Given the description of an element on the screen output the (x, y) to click on. 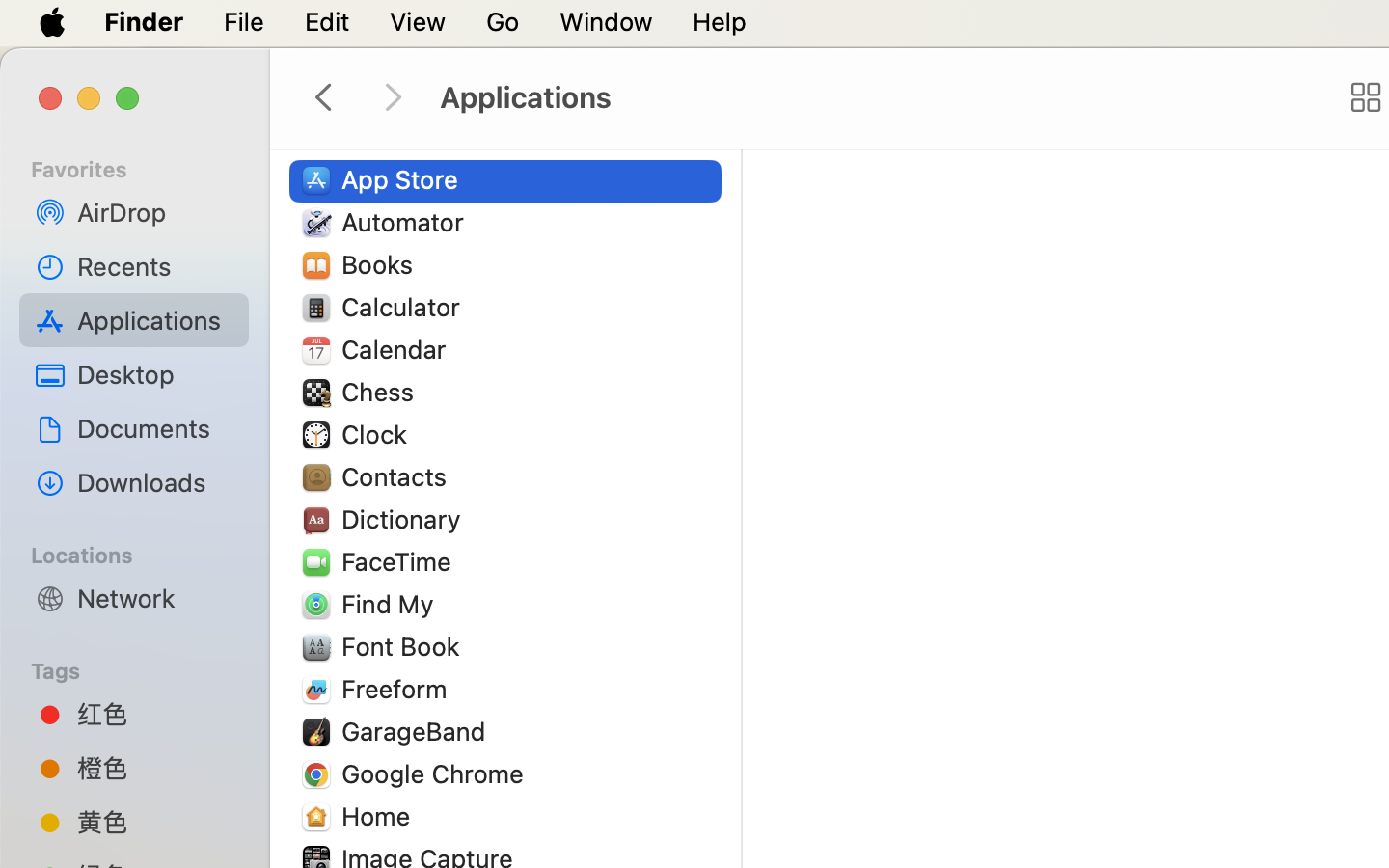
GarageBand Element type: AXTextField (417, 730)
Freeform Element type: AXTextField (398, 688)
App Store Element type: AXTextField (403, 178)
Calculator Element type: AXTextField (404, 306)
Find My Element type: AXTextField (391, 603)
